Given the description of an element on the screen output the (x, y) to click on. 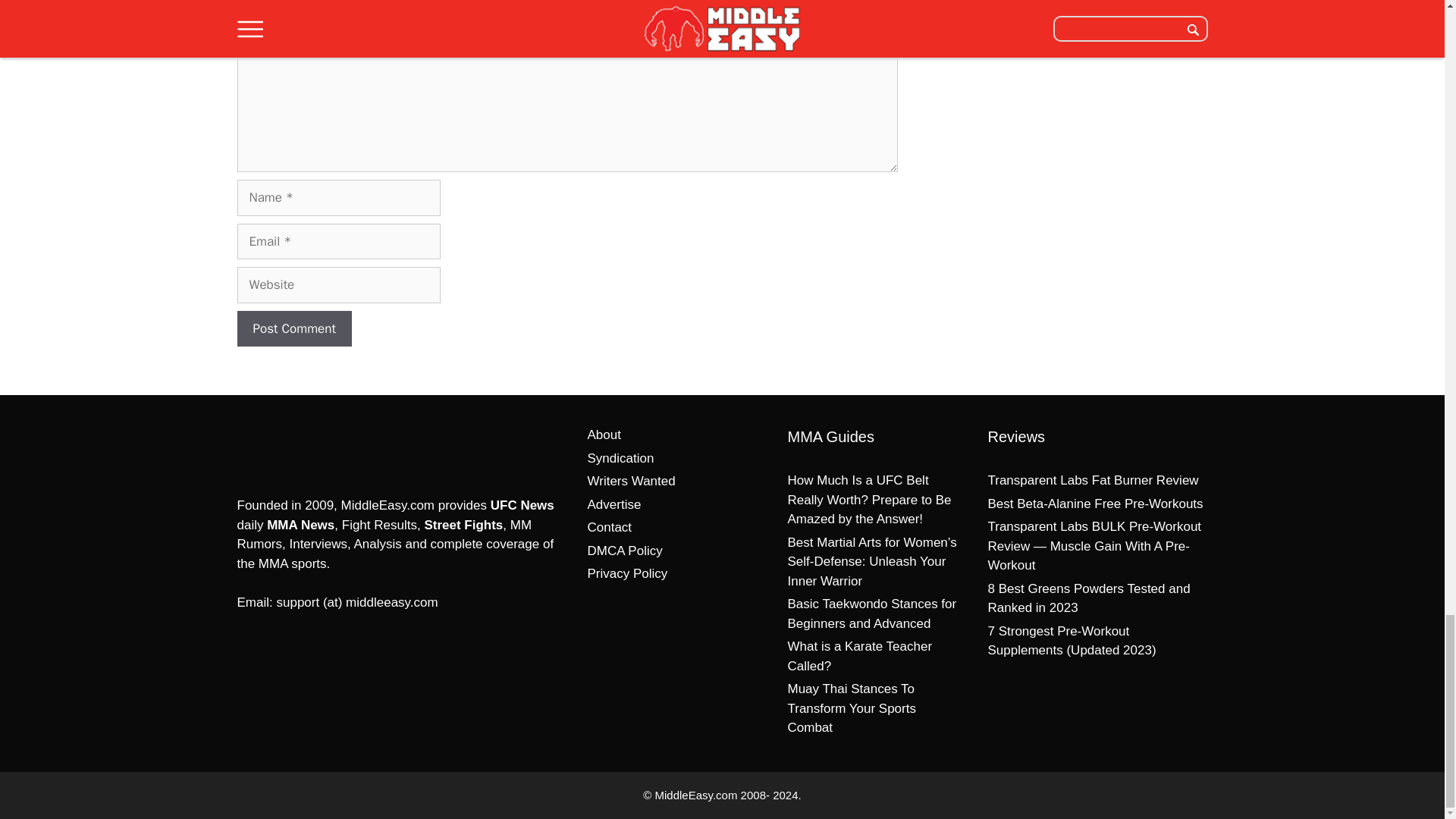
MiddlEeasy: MMA News (314, 447)
Post Comment (292, 329)
